Given the description of an element on the screen output the (x, y) to click on. 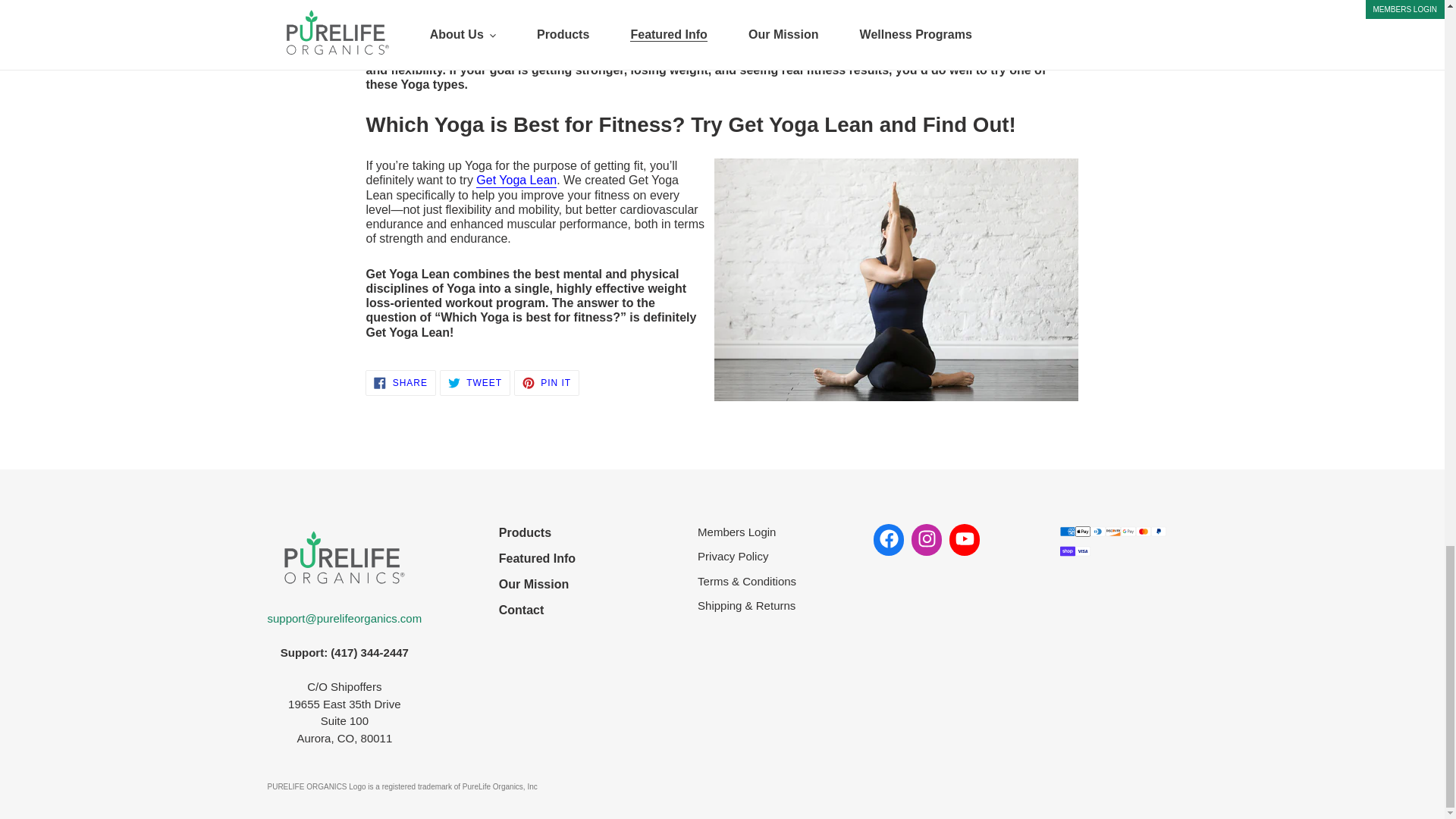
Featured Info (537, 558)
Get Yoga Lean (400, 382)
Our Mission (516, 180)
Products (537, 584)
Privacy Policy (537, 533)
Contact (746, 556)
Members Login (537, 610)
